Given the description of an element on the screen output the (x, y) to click on. 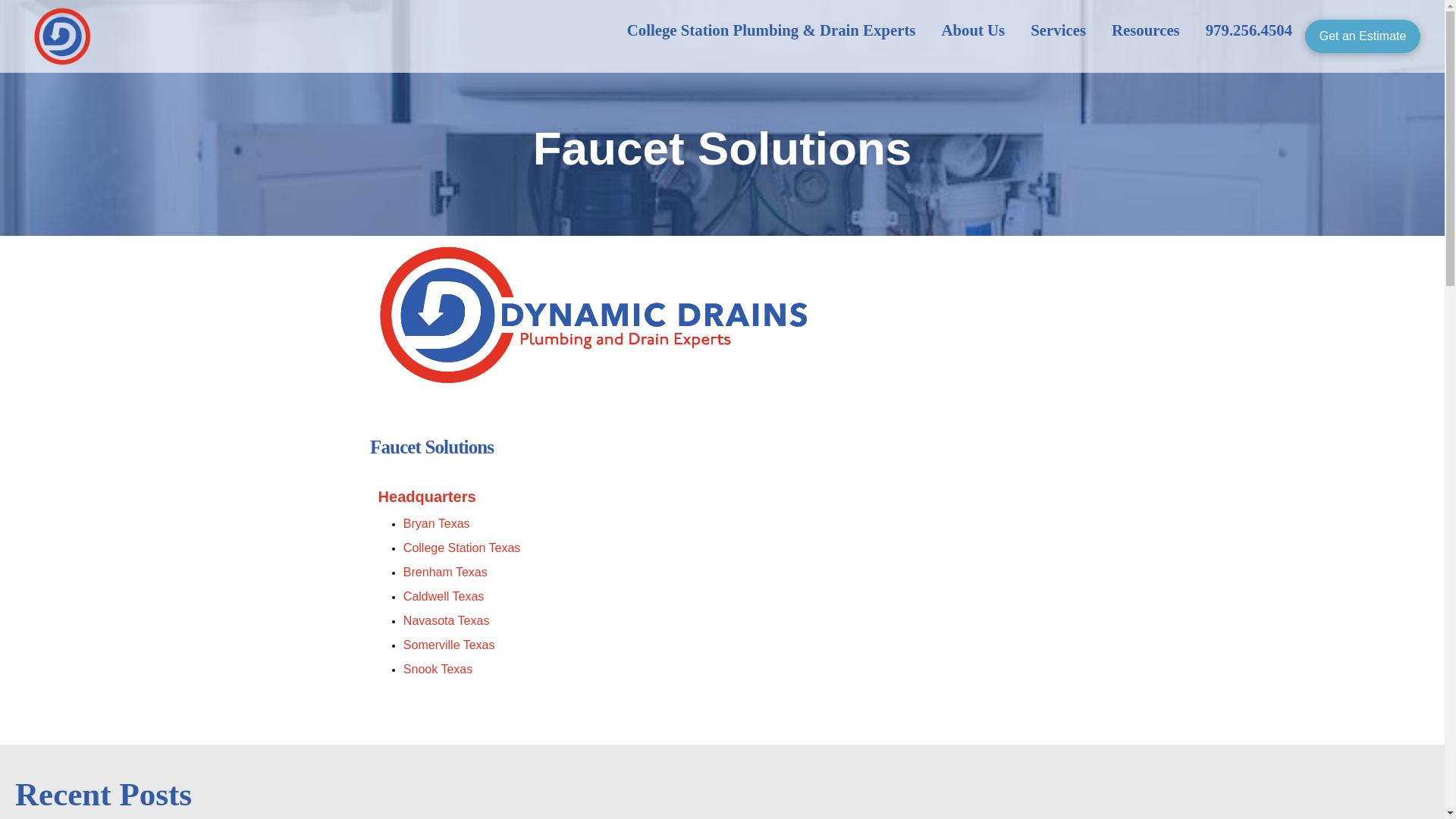
Get an Estimate (1362, 36)
979.256.4504 (1248, 30)
Snook Texas (437, 668)
Bryan Texas (436, 522)
College Station Texas (461, 547)
Headquarters (427, 496)
About Us (972, 30)
Faucet Solutions in College Station Texas (461, 547)
Navasota Texas (446, 620)
Faucet Solutions (427, 496)
Faucet Solutions in Navasota Texas (446, 620)
Somerville Texas (449, 644)
Faucet Solutions in Bryan Texas (436, 522)
Faucet Solutions in Brenham Texas (445, 571)
Faucet Solutions in Somerville Texas (449, 644)
